Given the description of an element on the screen output the (x, y) to click on. 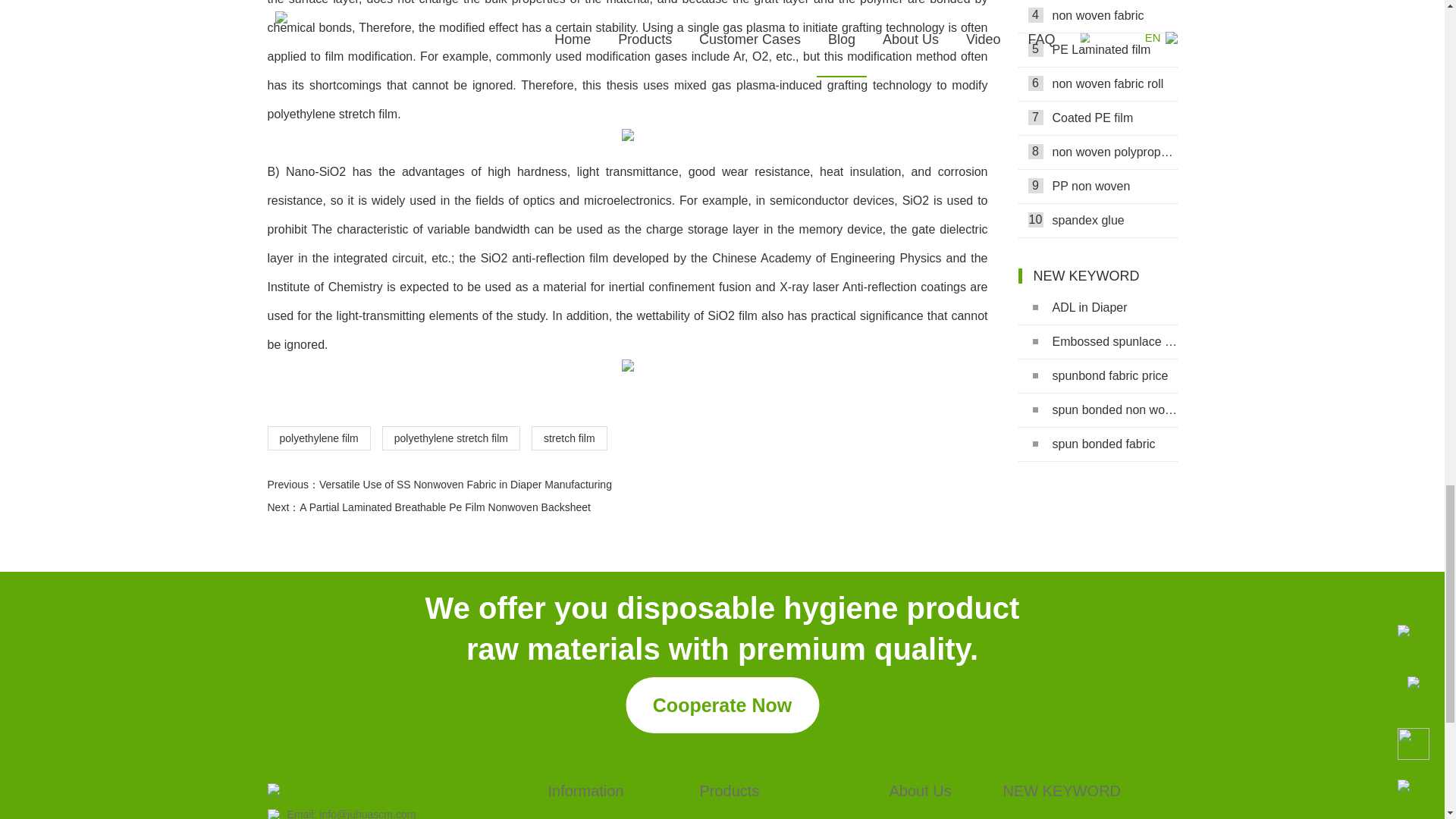
non woven fabric roll  (1096, 84)
spandex glue (1096, 220)
PE Laminated film (1096, 50)
non woven polypropylene  (1096, 152)
spunbond fabric price (1096, 376)
non woven fabric (1096, 16)
Coated PE film  (1096, 118)
PP non woven  (1096, 186)
ADL in Diaper (1096, 308)
Embossed spunlace non woven  fabric for wet wipes (1096, 342)
